Given the description of an element on the screen output the (x, y) to click on. 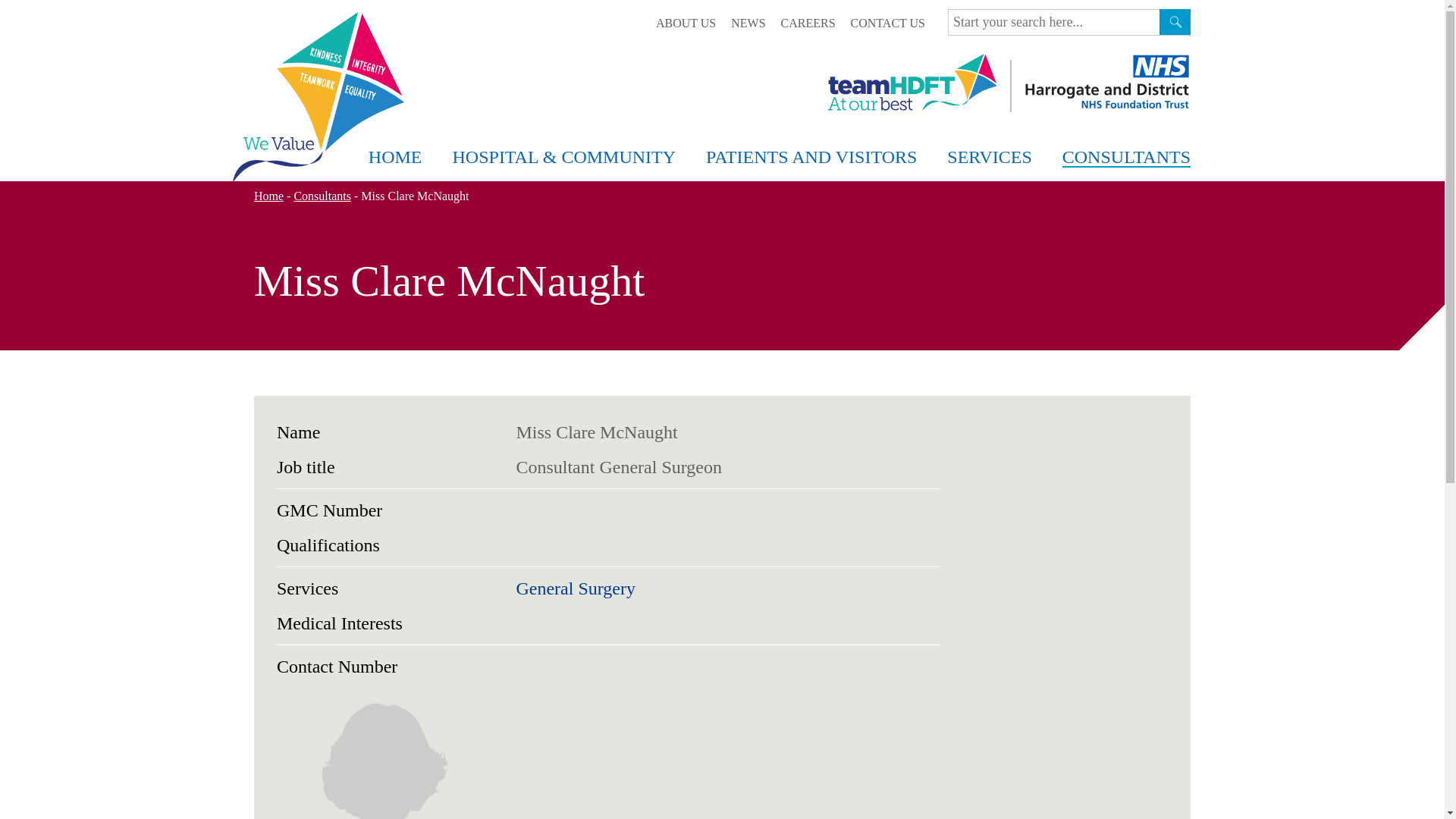
Search (1174, 22)
NEWS (748, 22)
Go to Harrogate and District NHS Foundation Trust. (268, 195)
Go to Consultants. (322, 195)
CAREERS (808, 22)
Team HDFT, at our best (912, 82)
HOME (395, 158)
CONTACT US (888, 22)
Harrogate and District NHS Foundation Trust (1106, 82)
ABOUT US (685, 22)
